Given the description of an element on the screen output the (x, y) to click on. 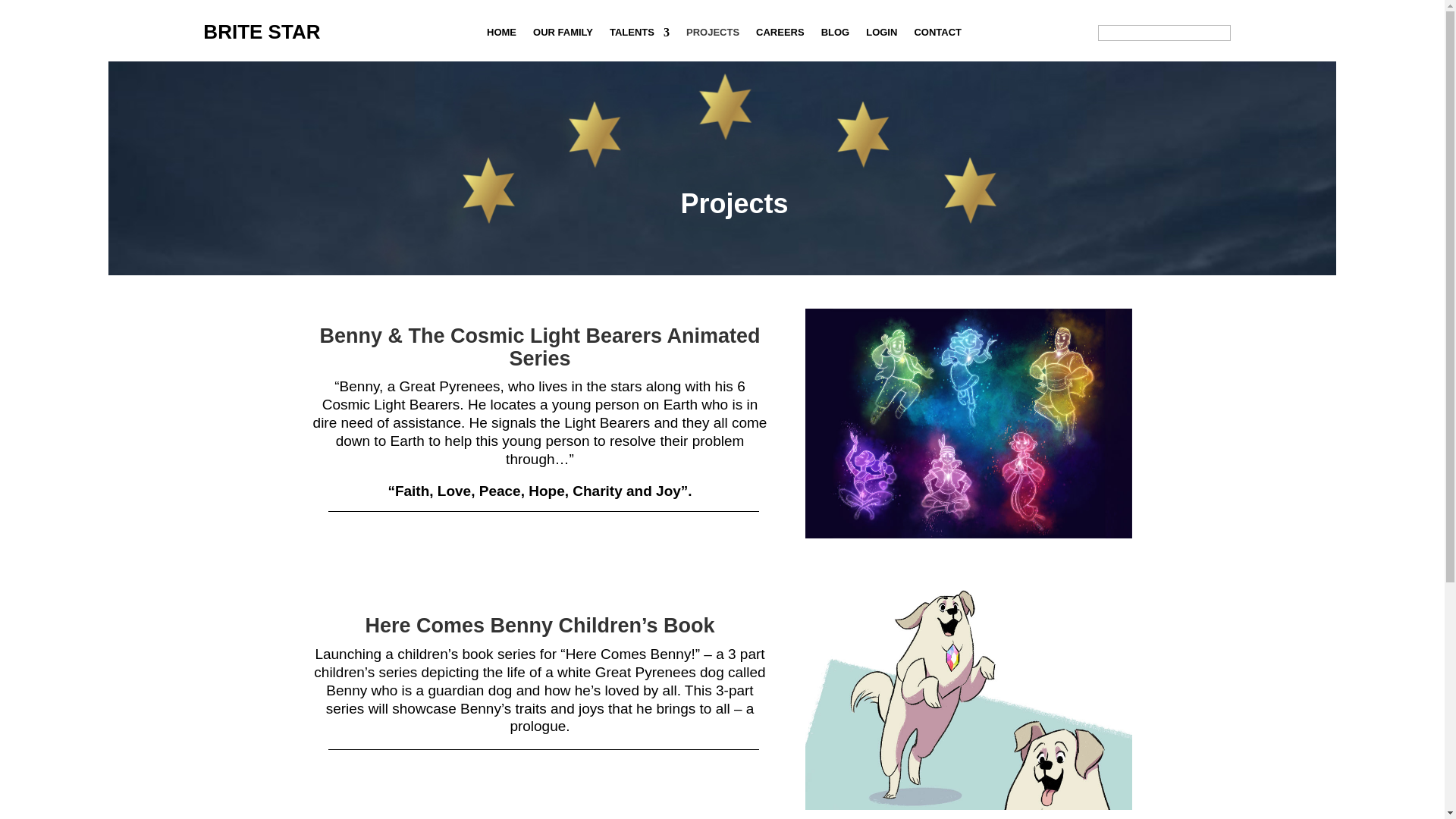
TALENTS (639, 35)
CONTACT (937, 35)
OUR FAMILY (562, 35)
PROJECTS (712, 35)
CAREERS (780, 35)
bennyh (968, 695)
HOME (501, 35)
LOGIN (881, 35)
6 (968, 423)
BLOG (835, 35)
